Given the description of an element on the screen output the (x, y) to click on. 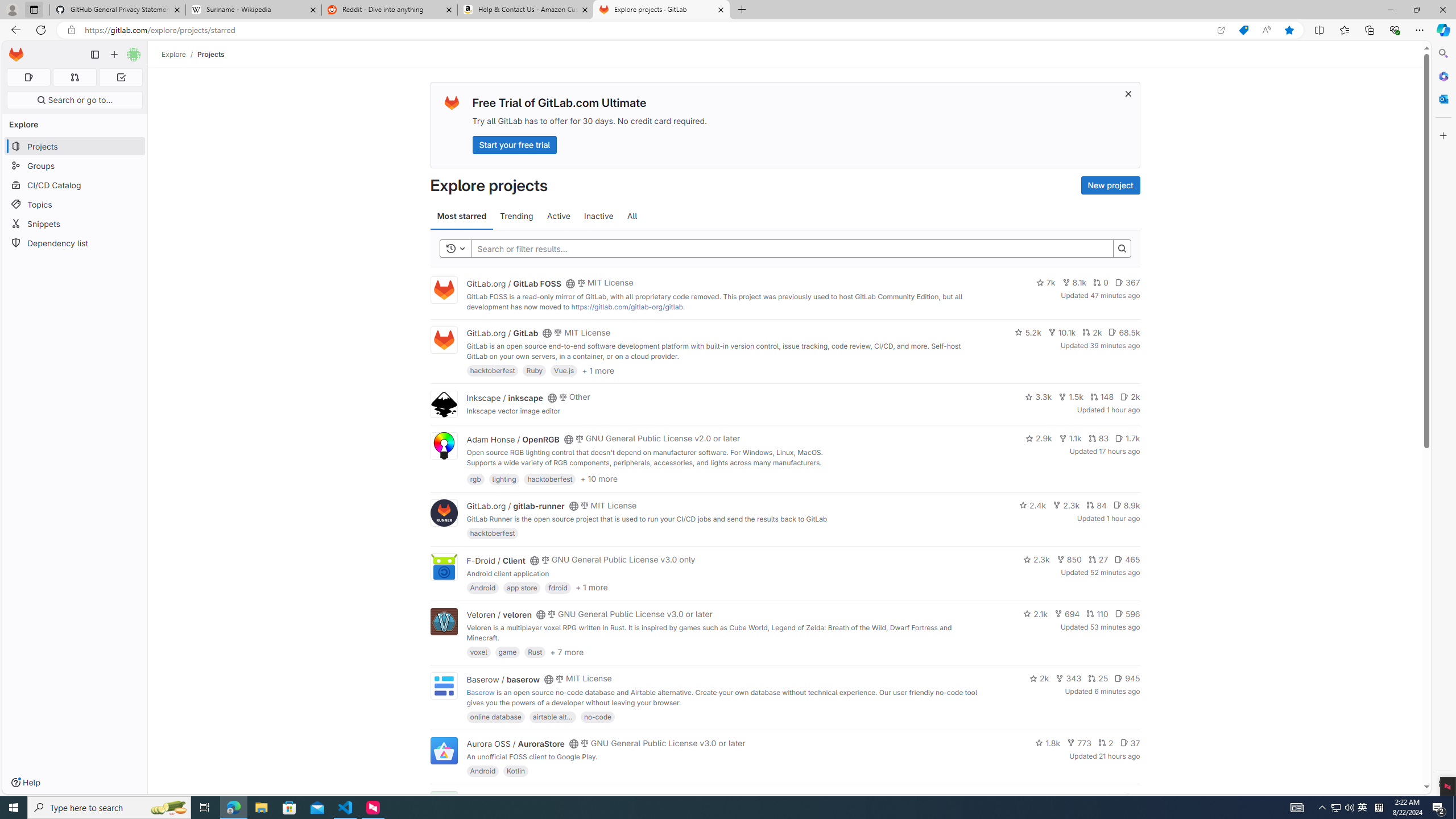
945 (1127, 678)
app store (521, 587)
Baserow (480, 691)
27 (1097, 559)
10.1k (1061, 331)
8.1k (1073, 282)
+ 10 more (599, 478)
Rust (535, 651)
GitLab.org / gitlab-runner (514, 506)
Dismiss trial promotion (1128, 93)
+ 1 more (591, 587)
rgb (475, 478)
